Given the description of an element on the screen output the (x, y) to click on. 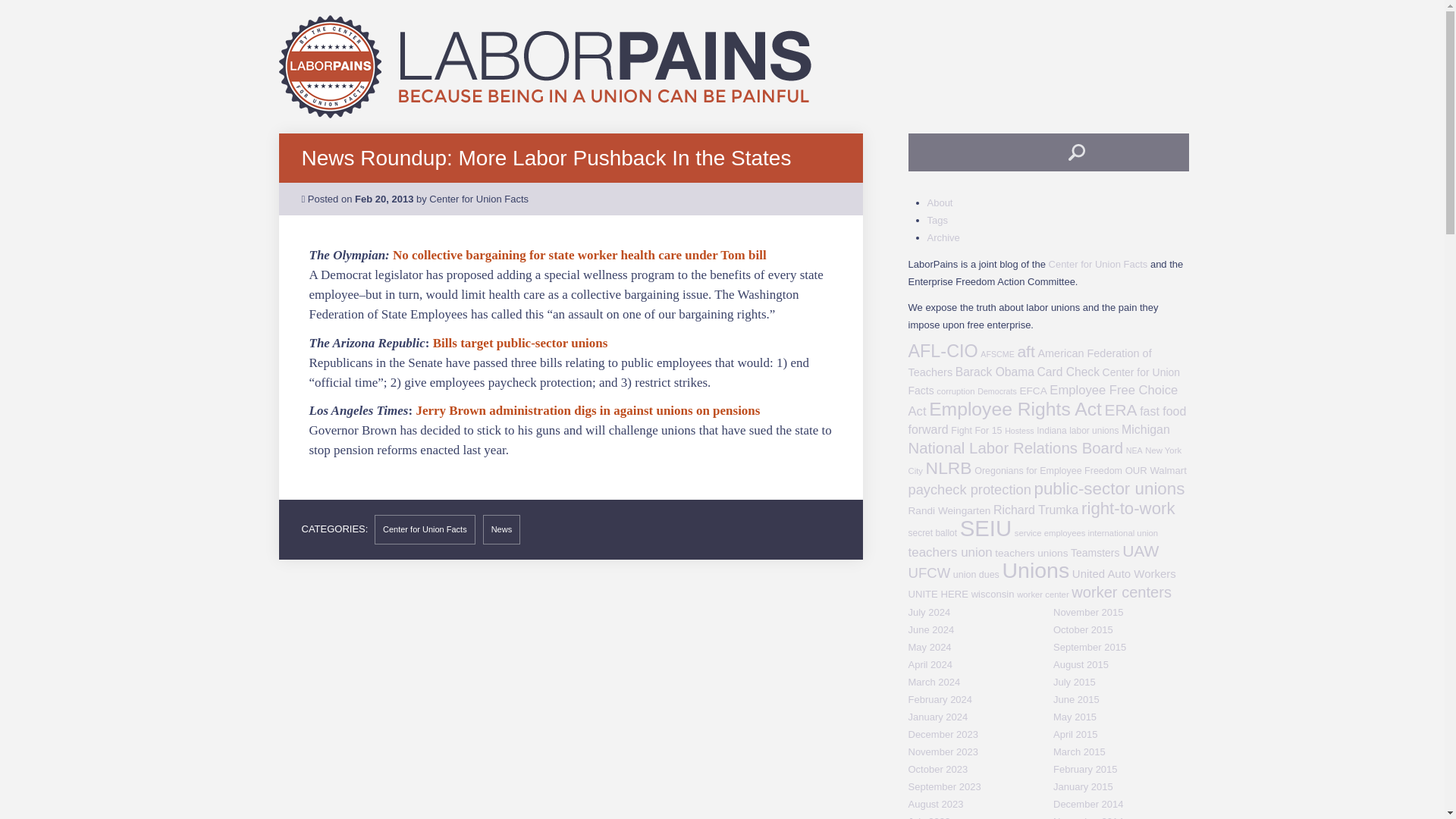
aft (1024, 351)
Center for Union Facts (1044, 380)
NEA (1133, 450)
Tags (936, 220)
Fight For 15 (975, 429)
News (502, 528)
Bills target public-sector unions (520, 341)
AFL-CIO (943, 351)
American Federation of Teachers (1029, 362)
Indiana (1050, 429)
